Given the description of an element on the screen output the (x, y) to click on. 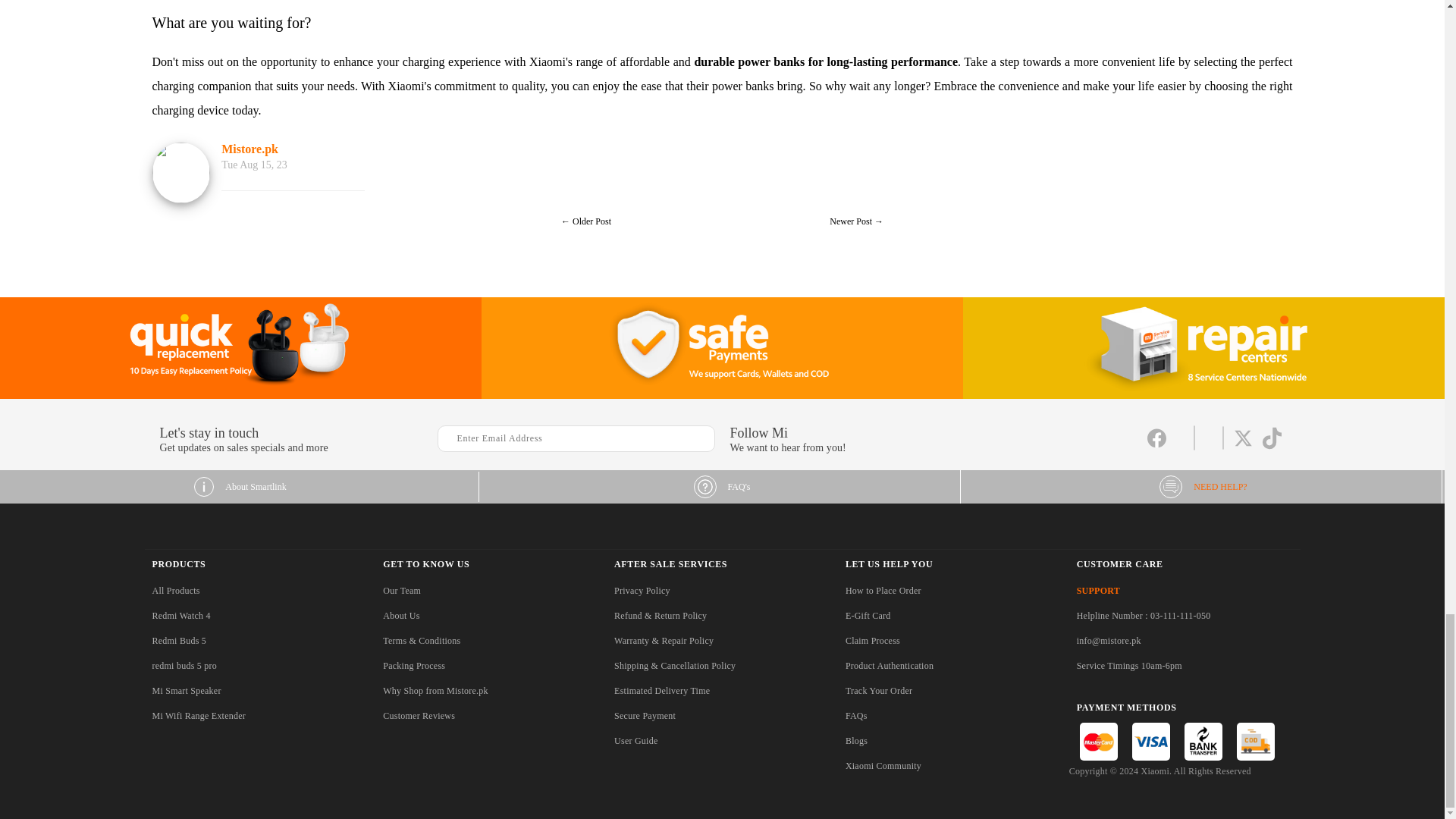
Facebook (1156, 446)
twitter (1242, 446)
tiktok (1271, 446)
